Given the description of an element on the screen output the (x, y) to click on. 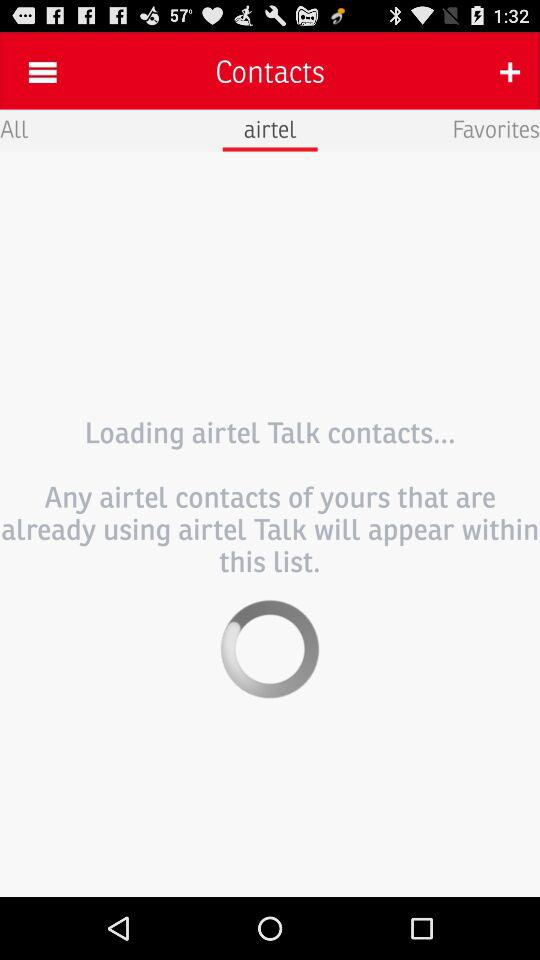
click the icon next to the airtel icon (496, 128)
